Given the description of an element on the screen output the (x, y) to click on. 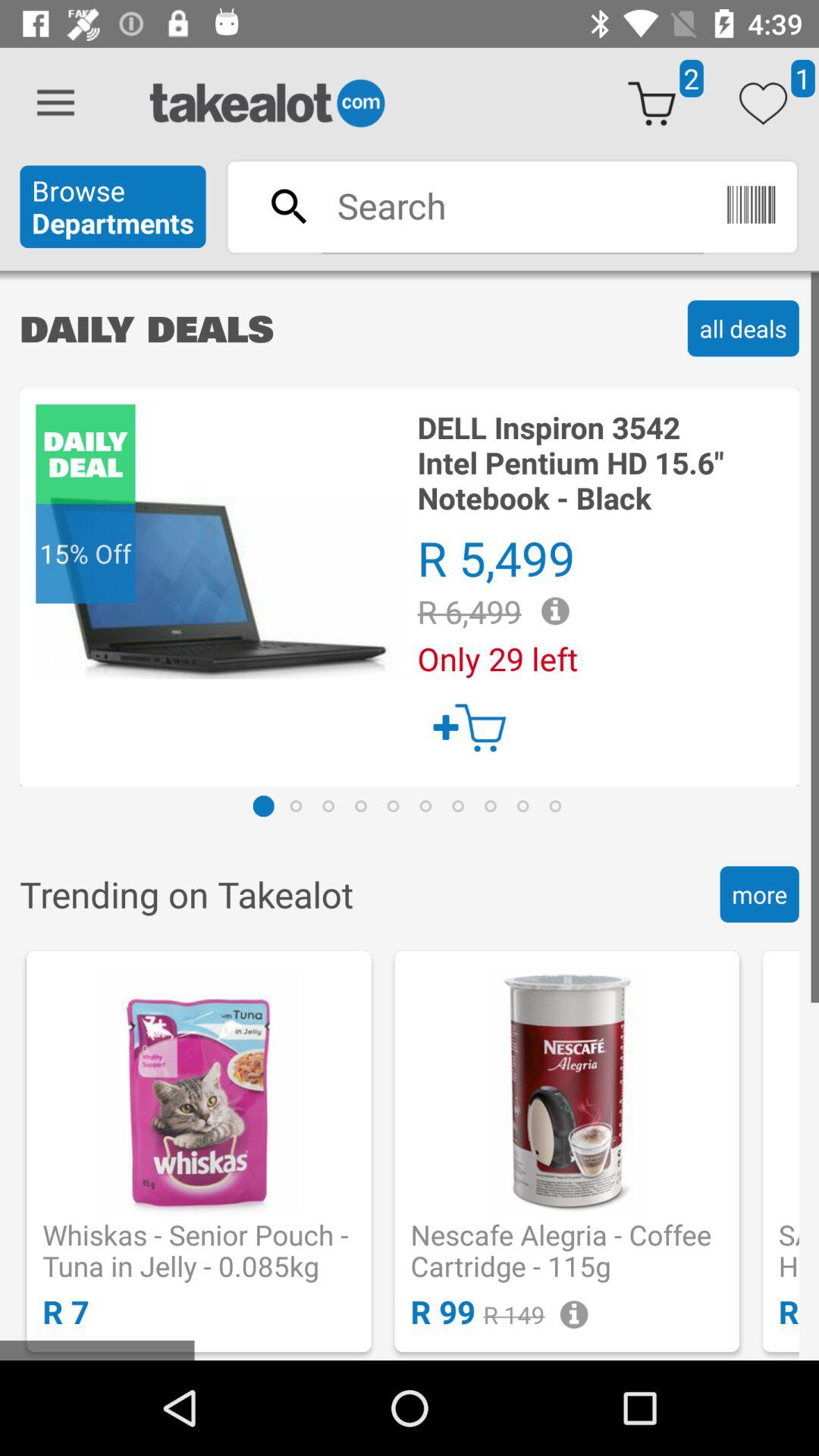
search bar (512, 205)
